Given the description of an element on the screen output the (x, y) to click on. 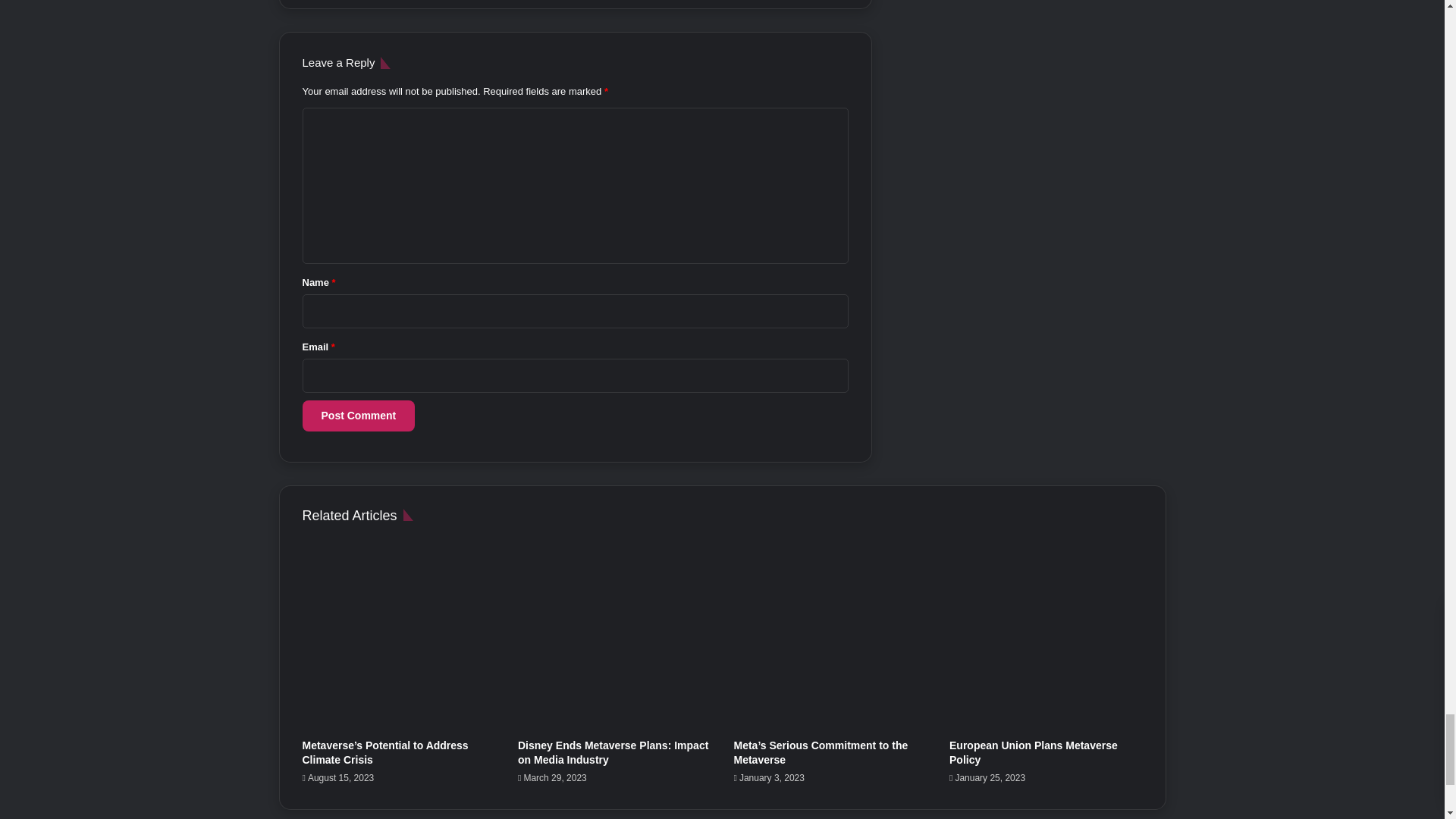
Post Comment (357, 415)
